Given the description of an element on the screen output the (x, y) to click on. 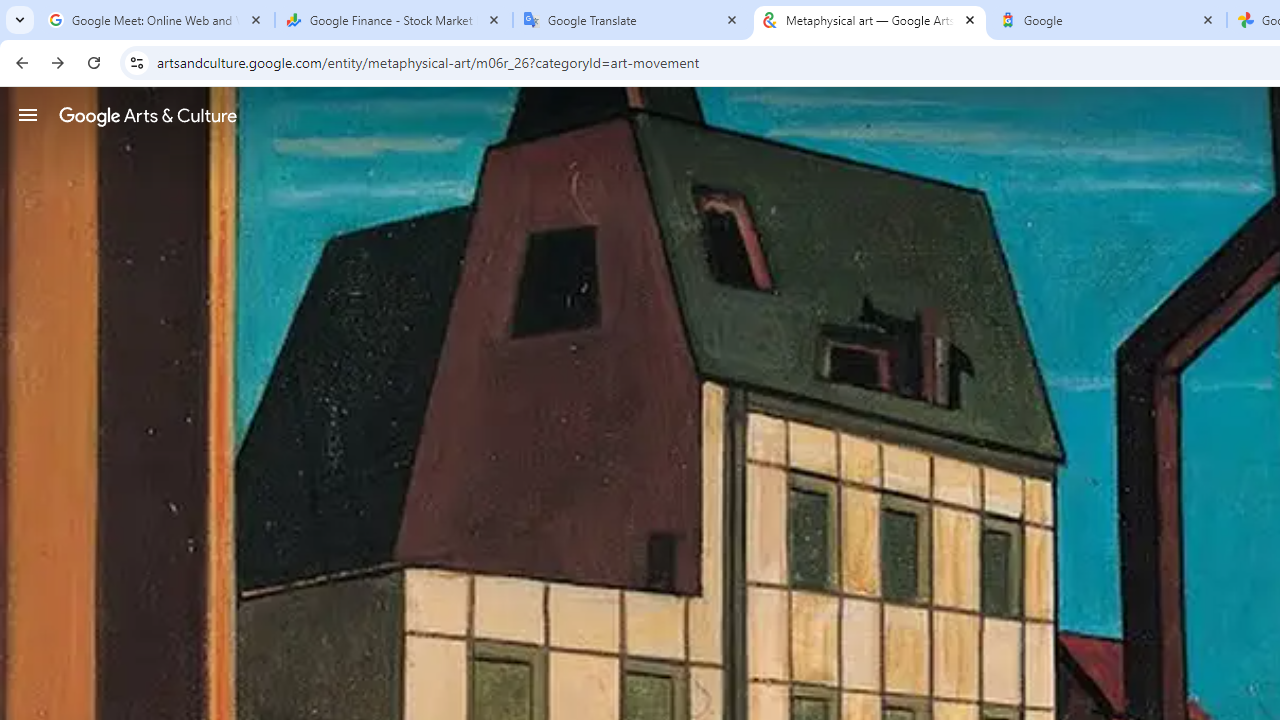
System (10, 11)
System (10, 11)
View site information (136, 62)
Forward (57, 62)
Google Translate (632, 20)
Search tabs (20, 20)
Reload (93, 62)
Menu (27, 114)
Google (1108, 20)
Close (1208, 19)
Back (19, 62)
